Given the description of an element on the screen output the (x, y) to click on. 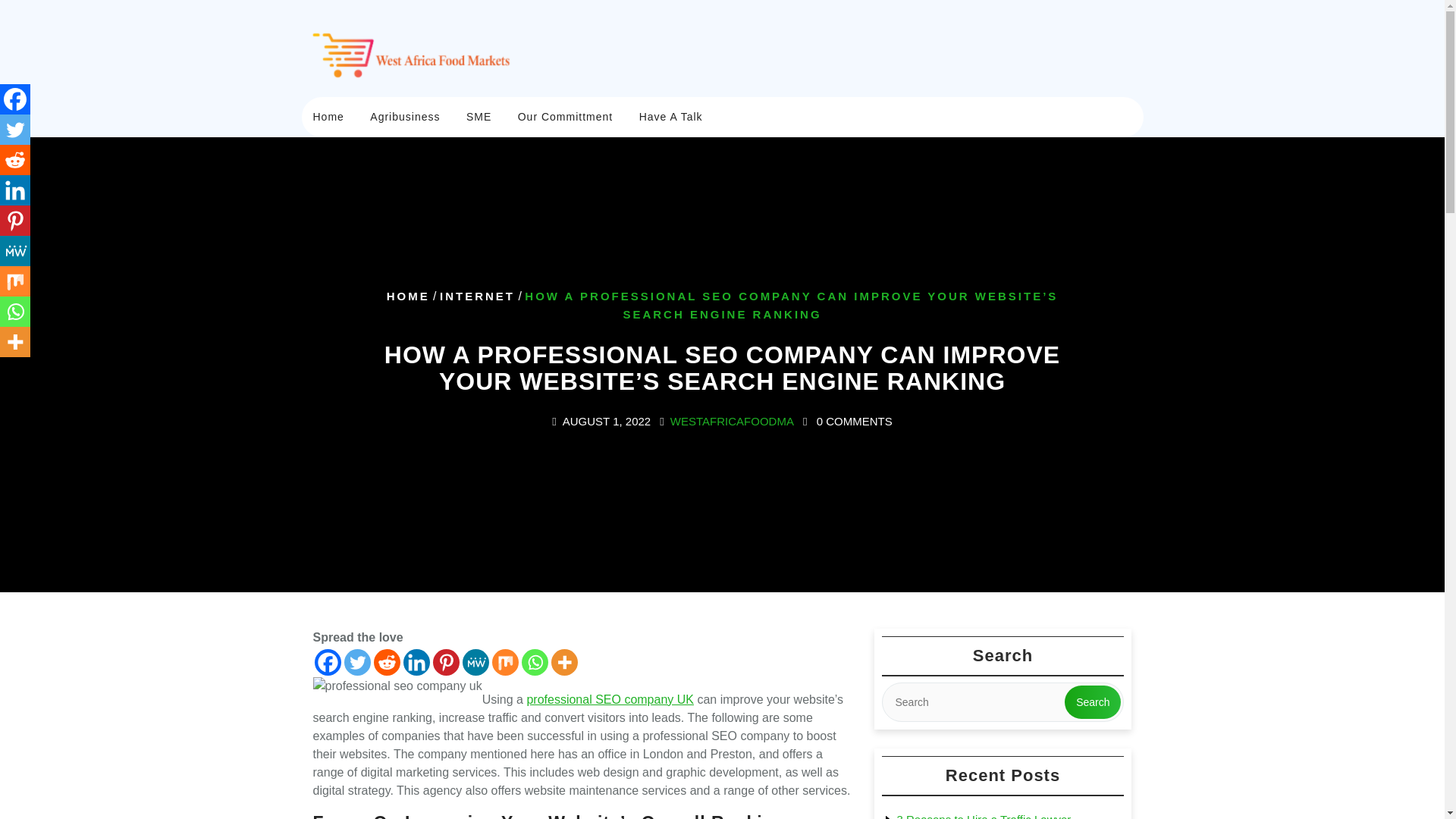
INTERNET (477, 295)
HOME (408, 295)
Twitter (357, 662)
WESTAFRICAFOODMA (731, 420)
Home (328, 117)
More (563, 662)
professional SEO company UK (609, 698)
Facebook (327, 662)
MeWe (476, 662)
Mix (505, 662)
SME (478, 117)
Have A Talk (670, 117)
Linkedin (15, 190)
Our Committment (565, 117)
Linkedin (416, 662)
